Given the description of an element on the screen output the (x, y) to click on. 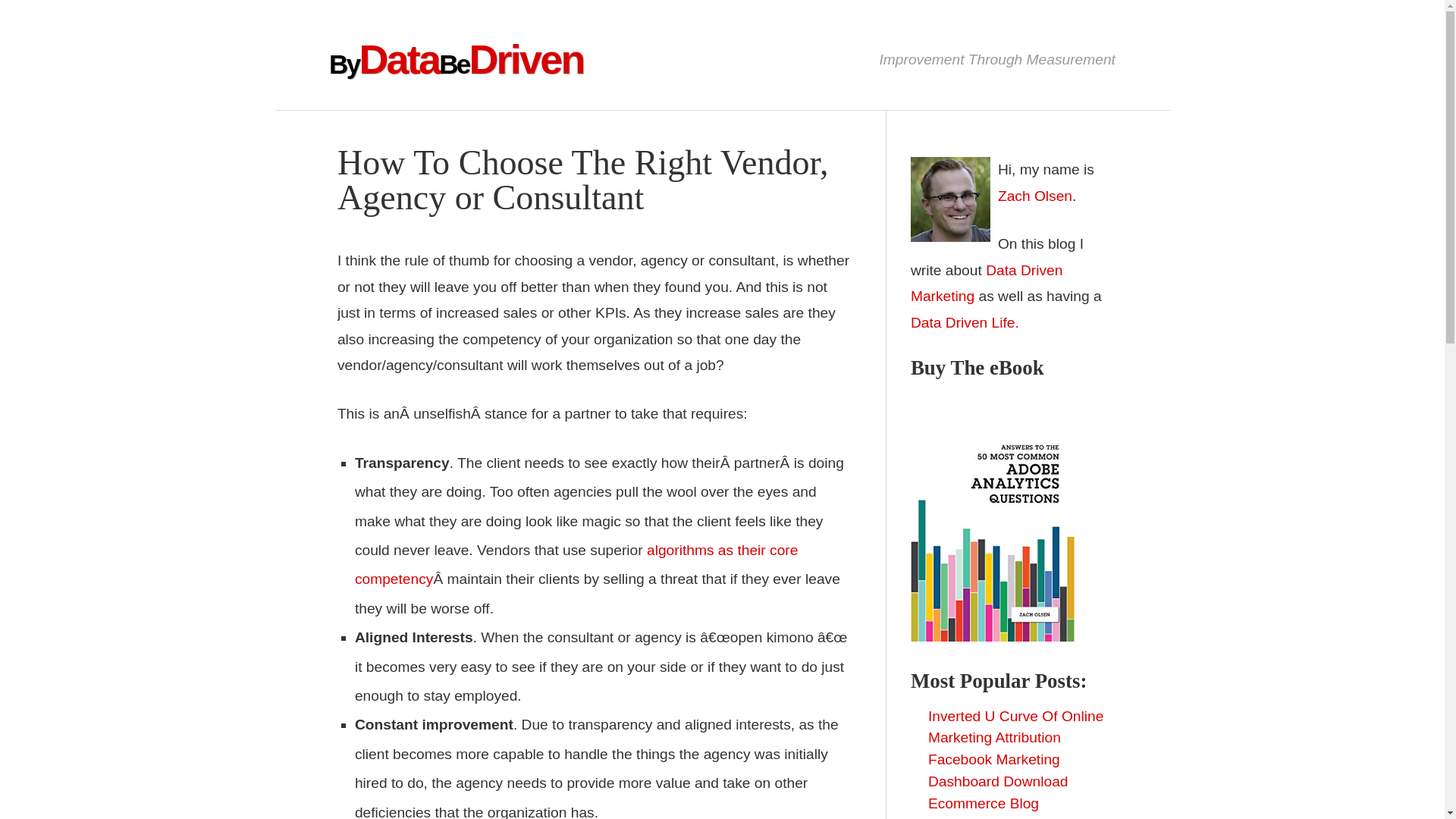
ByDataBeDriven (456, 58)
Facebook Marketing Dashboard Download (998, 770)
algorithms as their core competency (576, 564)
Data Driven Life. (965, 322)
Inverted U Curve Of Online Marketing Attribution (1015, 727)
Inverted U Curve Of Online Marketing Attribution (1015, 727)
Zach Olsen (1034, 195)
By Data Be Driven (456, 58)
Data Driven Marketing (986, 283)
Facebook Marketing Dashboard Download (998, 770)
